Given the description of an element on the screen output the (x, y) to click on. 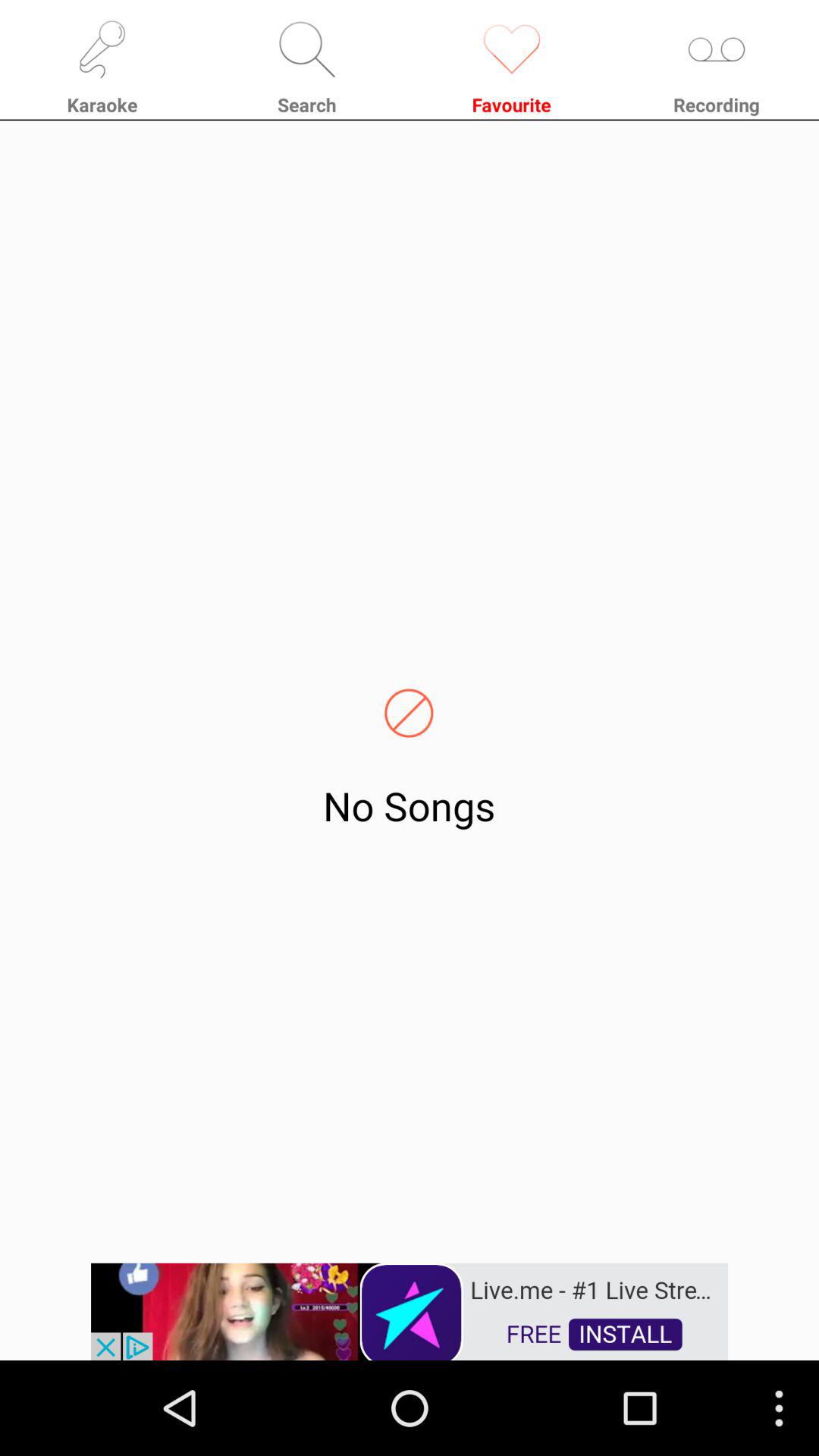
open this advertisement (409, 1310)
